Given the description of an element on the screen output the (x, y) to click on. 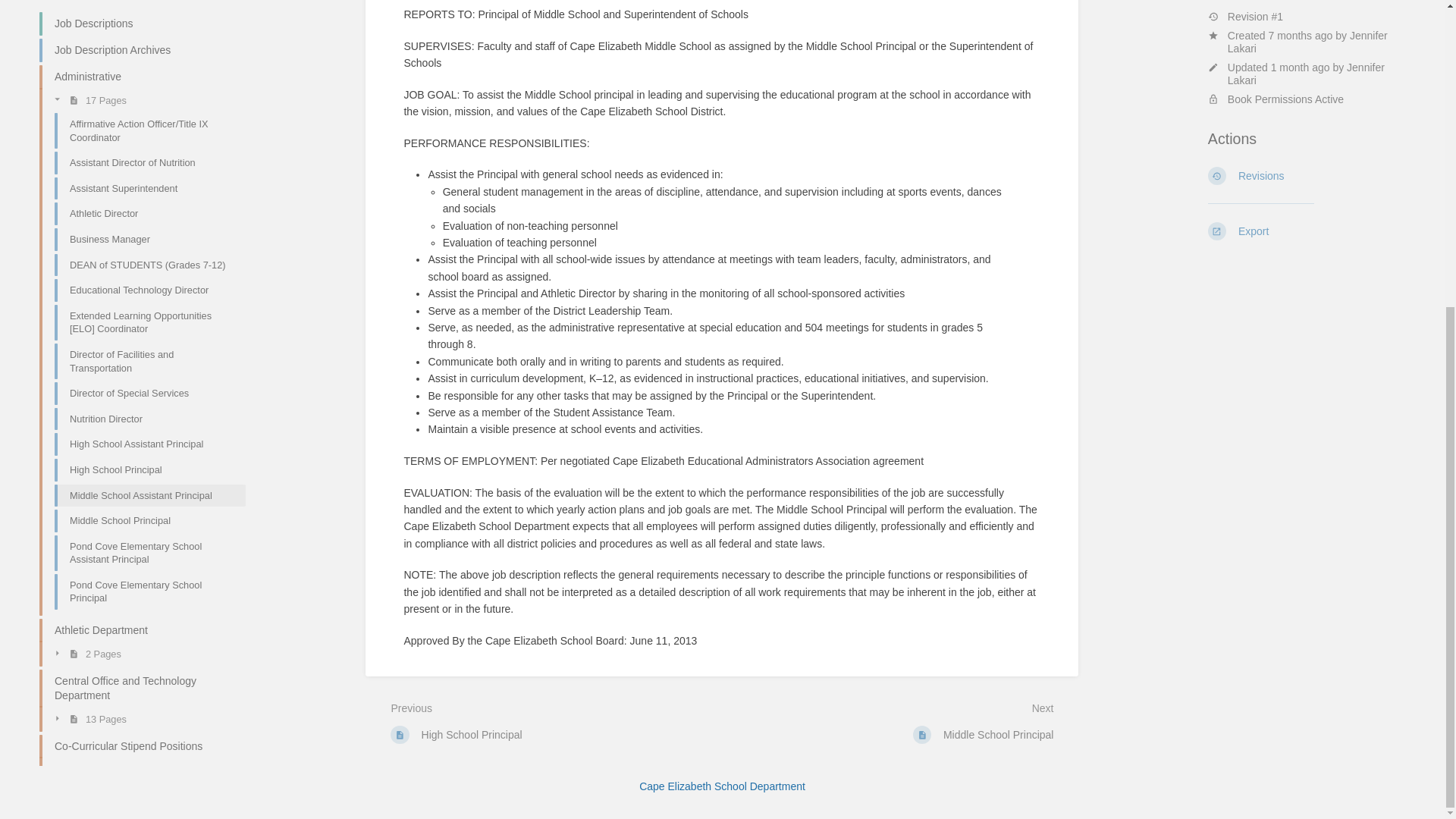
High School Assistant Principal (144, 63)
13 Pages (144, 338)
Director of Special Services (144, 13)
Athletic Department (136, 250)
Pond Cove Elementary School Principal (144, 211)
2 Pages (144, 273)
Nutrition Director (144, 39)
Pond Cove Elementary School Assistant Principal (144, 172)
High School Principal (144, 89)
Central Office and Technology Department (136, 309)
Middle School Assistant Principal (144, 115)
Middle School Principal (144, 140)
